Given the description of an element on the screen output the (x, y) to click on. 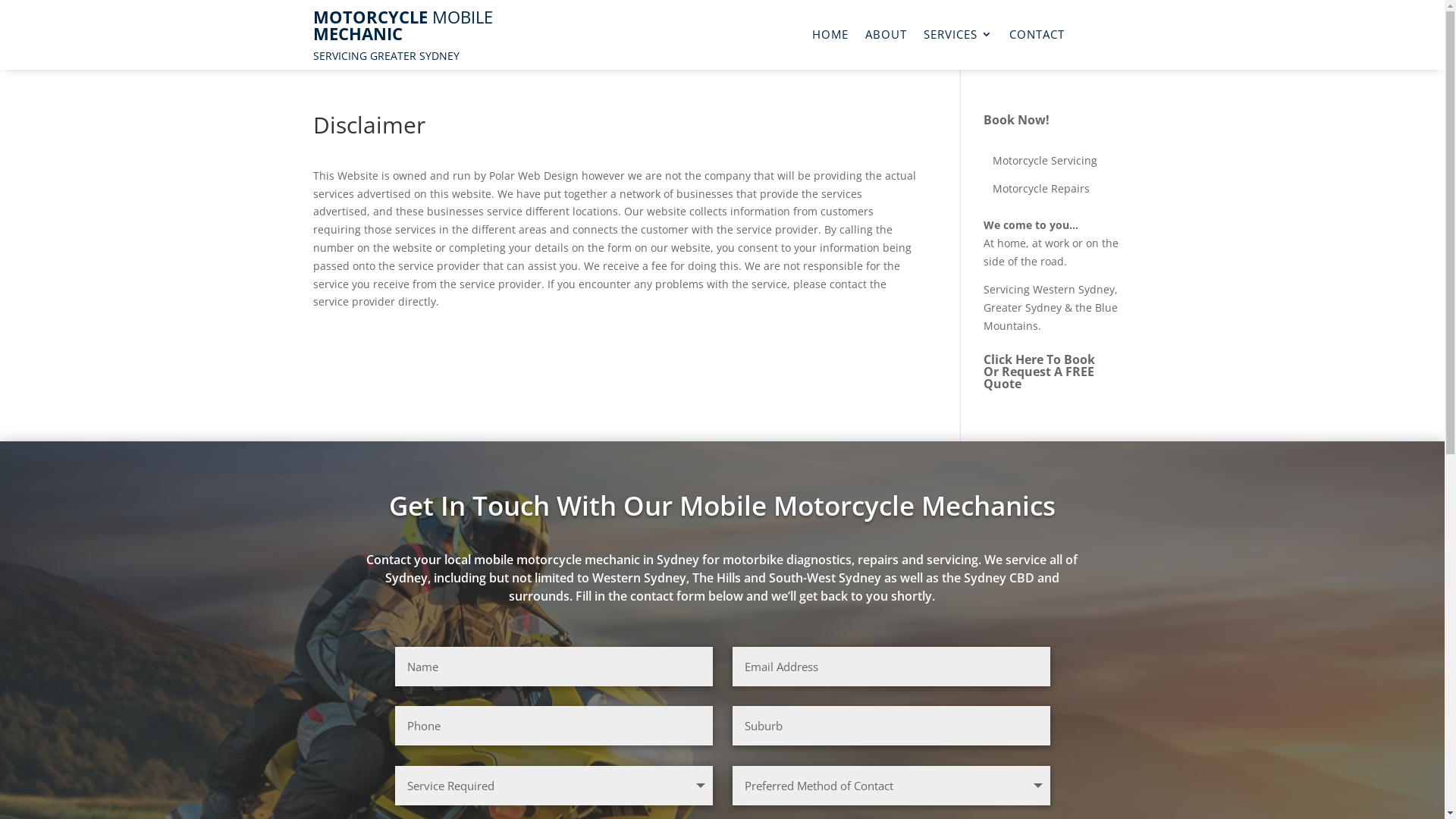
Click Here To Book
Or Request A FREE Quote Element type: text (1039, 371)
HOME Element type: text (830, 36)
CONTACT Element type: text (1036, 36)
Book Now! Element type: text (1016, 119)
SERVICES Element type: text (957, 36)
ABOUT Element type: text (885, 36)
